Given the description of an element on the screen output the (x, y) to click on. 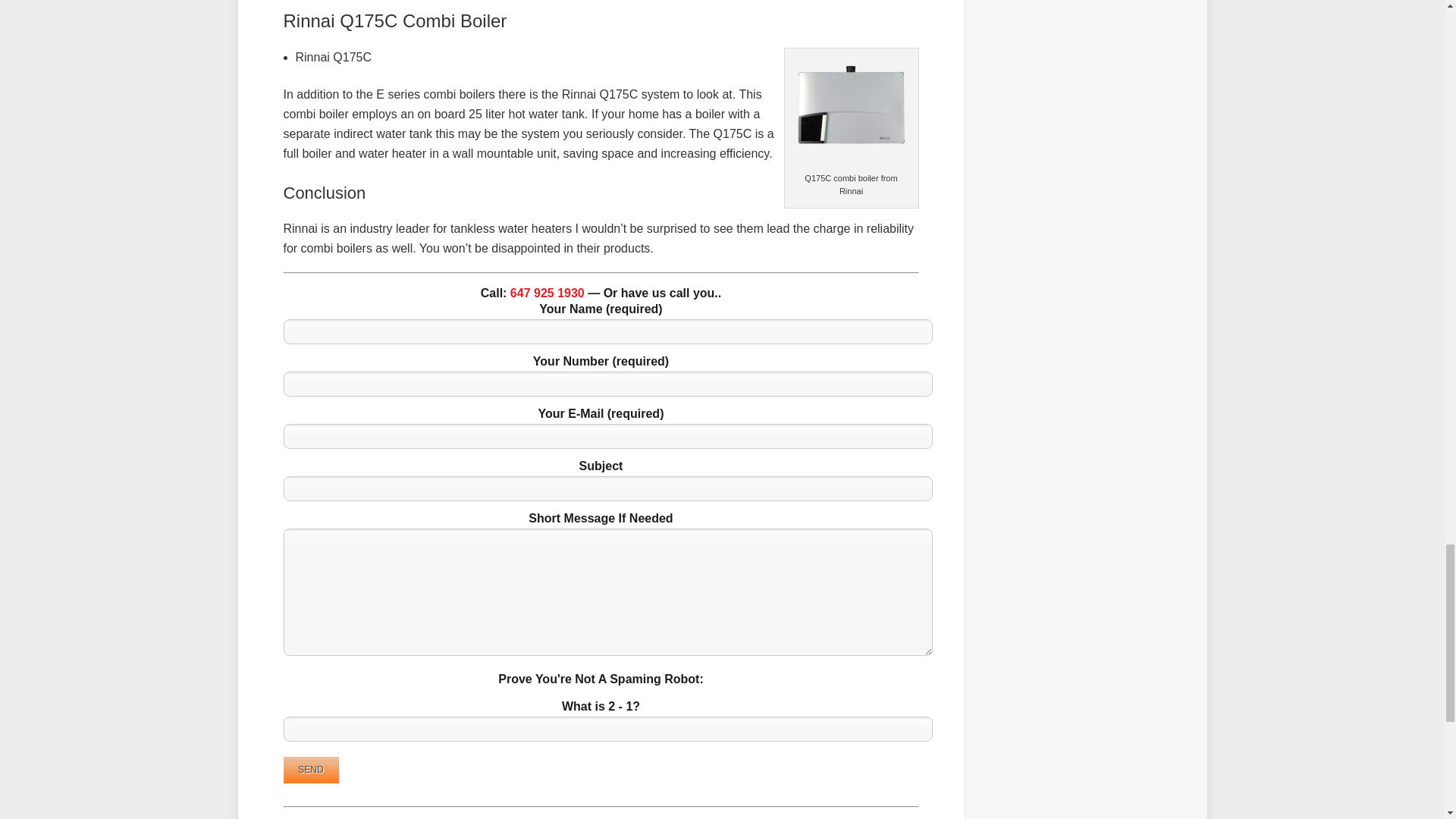
Send (311, 769)
